Given the description of an element on the screen output the (x, y) to click on. 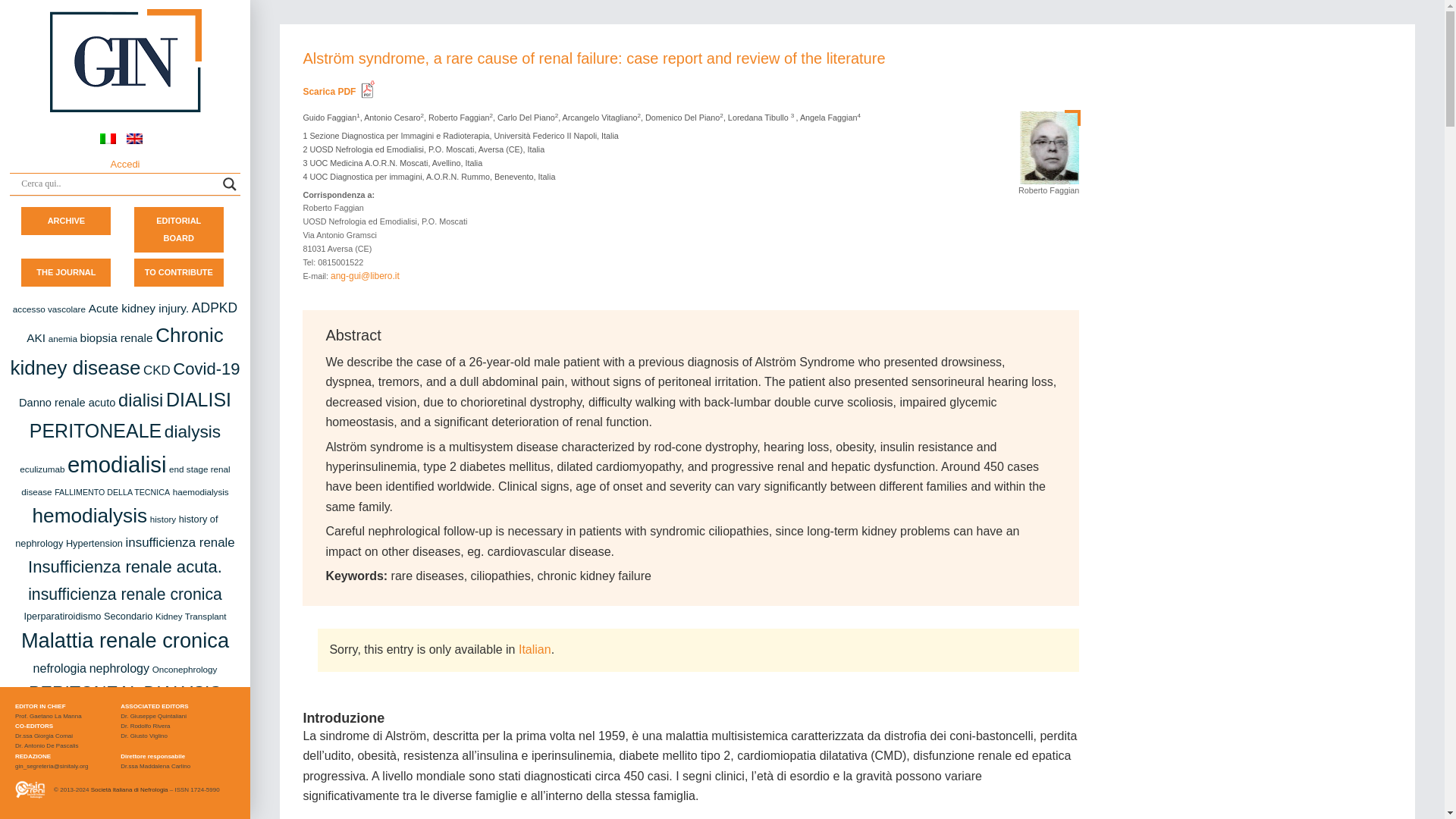
THE JOURNAL (65, 272)
Malattia renale cronica (124, 639)
end stage renal disease (125, 480)
Italiano (534, 649)
TO CONTRIBUTE (178, 272)
insufficienza renale (179, 542)
eculizumab (42, 469)
accesso vascolare (49, 308)
dialisi (140, 400)
biopsia renale (116, 337)
